Given the description of an element on the screen output the (x, y) to click on. 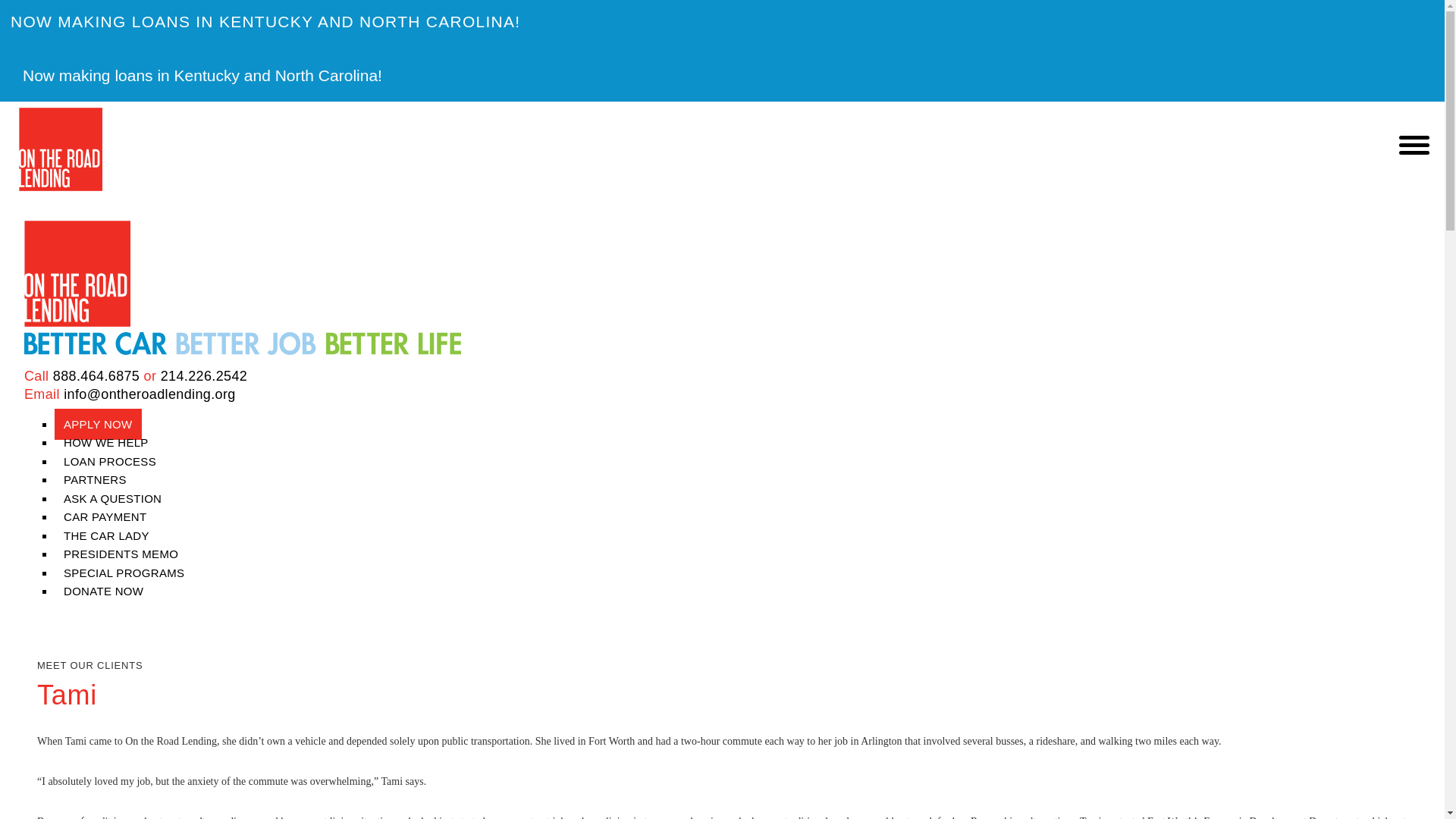
NOW MAKING LOANS IN KENTUCKY AND NORTH CAROLINA! (722, 21)
APPLY NOW (98, 423)
CAR PAYMENT (105, 516)
HOW WE HELP (106, 441)
PRESIDENTS MEMO (121, 553)
LOAN PROCESS (110, 460)
SPECIAL PROGRAMS (124, 572)
THE CAR LADY (106, 535)
DONATE NOW (98, 590)
PARTNERS (95, 479)
